Given the description of an element on the screen output the (x, y) to click on. 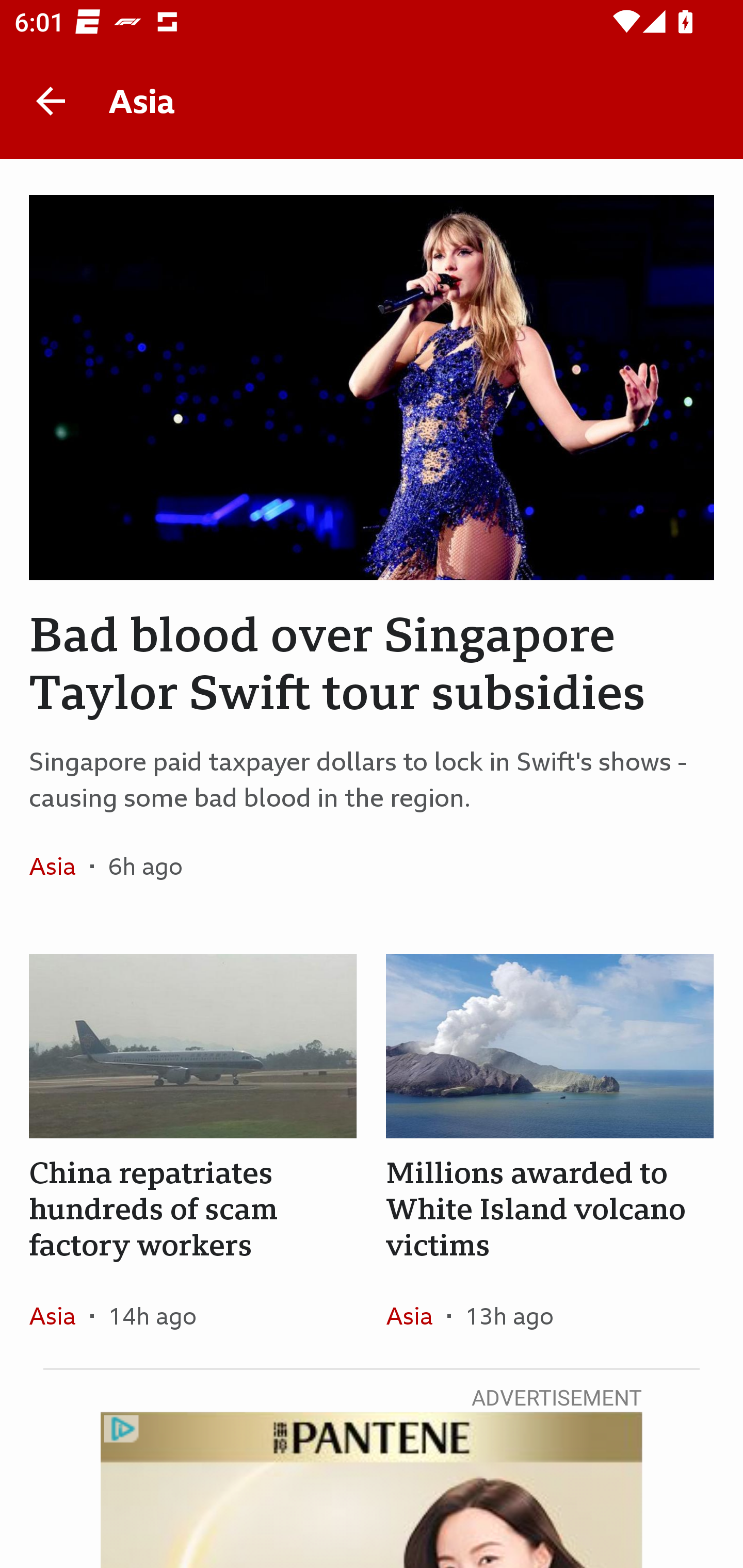
Back (50, 101)
Asia In the section Asia (59, 865)
Asia In the section Asia (59, 1315)
Asia In the section Asia (416, 1315)
index javascript:window.open(window (371, 1489)
